Given the description of an element on the screen output the (x, y) to click on. 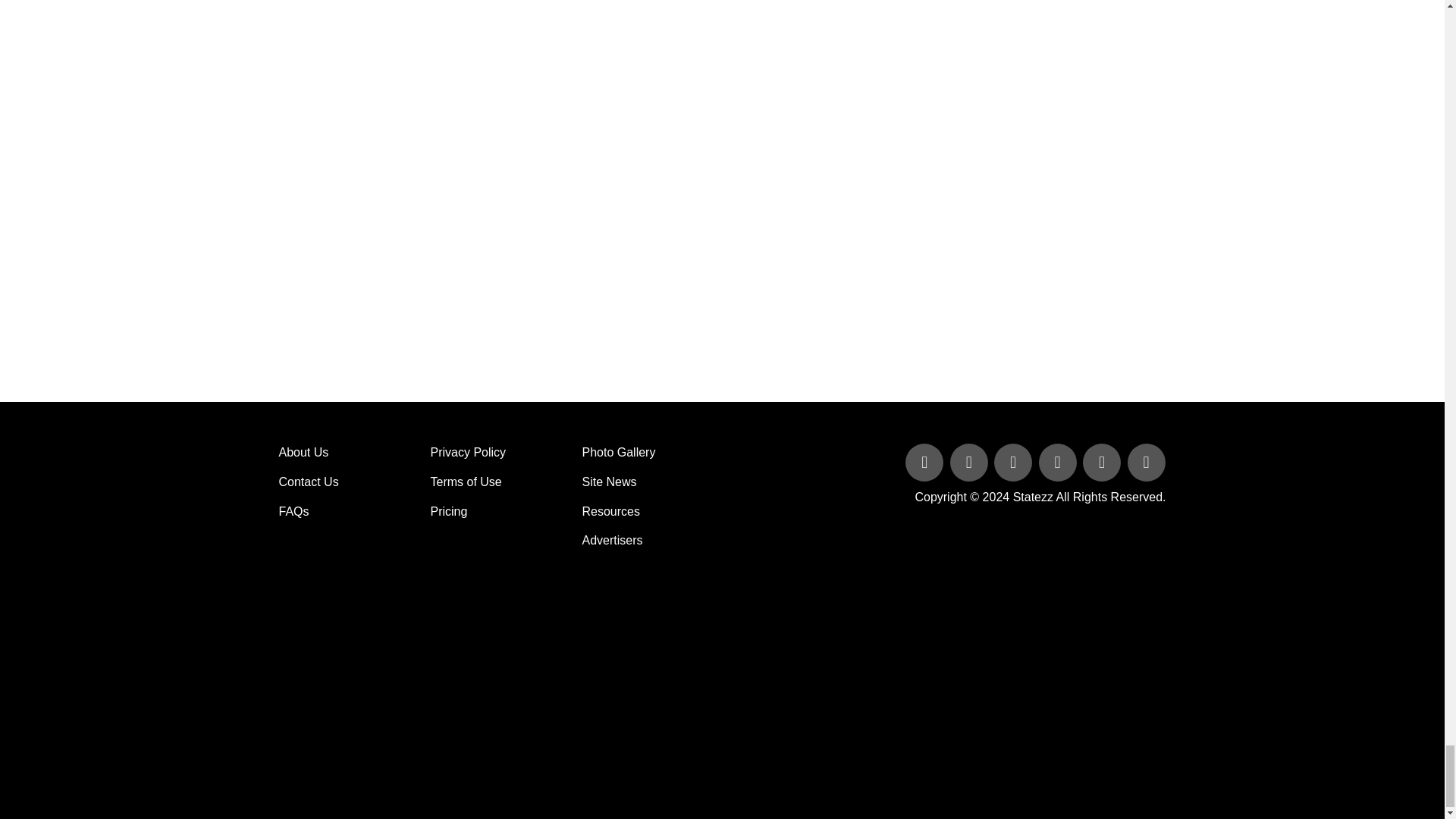
Follow Us on Twitter (970, 463)
Follow Us on Instagram (1145, 463)
Follow Us on Linked In (1014, 463)
Follow Us on You Tube (1058, 463)
Follow Us on Pinterest (1103, 463)
Follow Us on Facebook (925, 463)
